Given the description of an element on the screen output the (x, y) to click on. 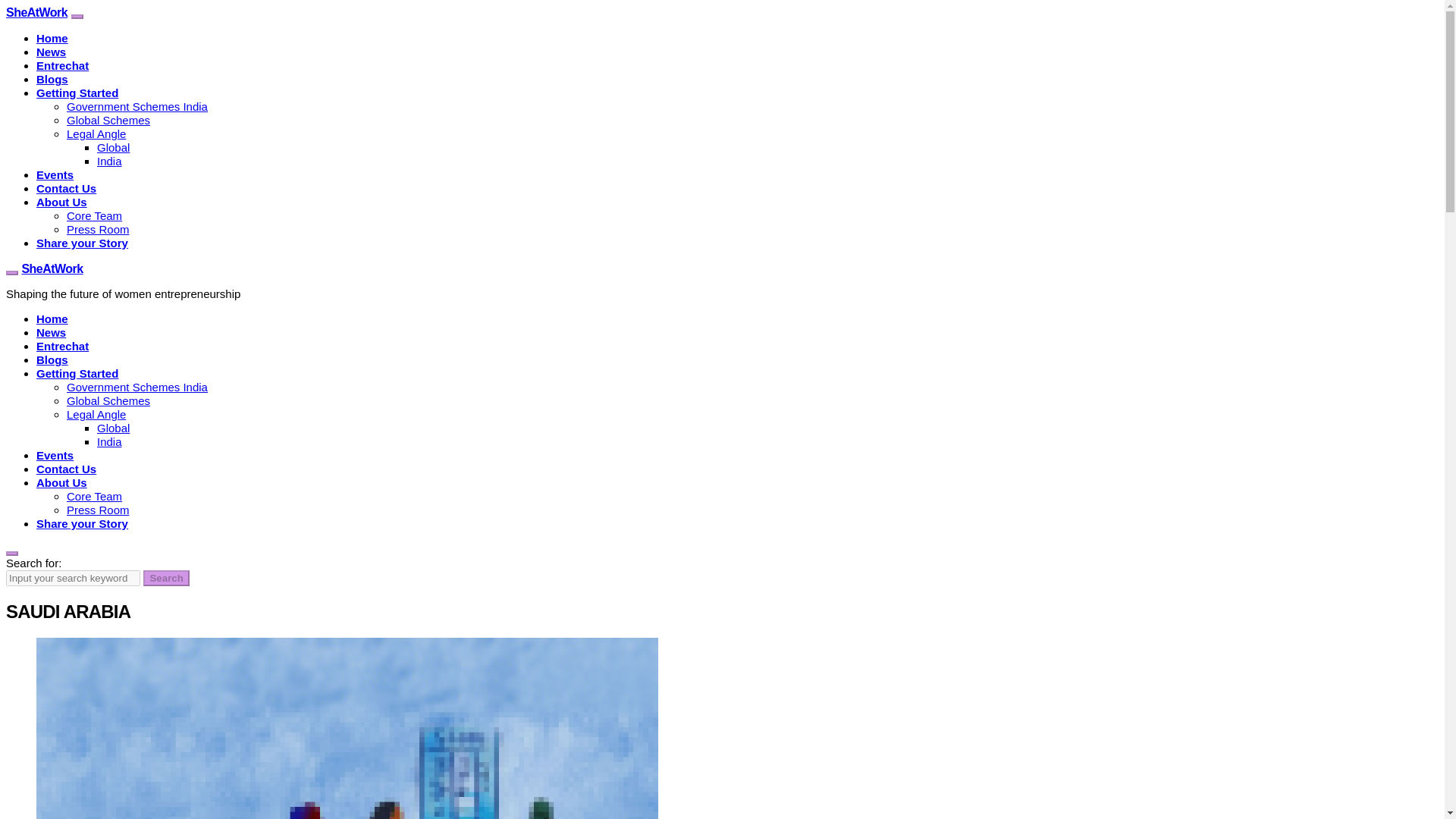
Global (113, 146)
News (50, 51)
Getting Started (76, 373)
India (109, 440)
Blogs (52, 78)
Home (52, 318)
Entrechat (62, 65)
Contact Us (66, 468)
Entrechat (62, 345)
Press Room (97, 509)
News (50, 332)
Events (55, 174)
About Us (61, 201)
Global Schemes (107, 400)
Government Schemes India (137, 106)
